Given the description of an element on the screen output the (x, y) to click on. 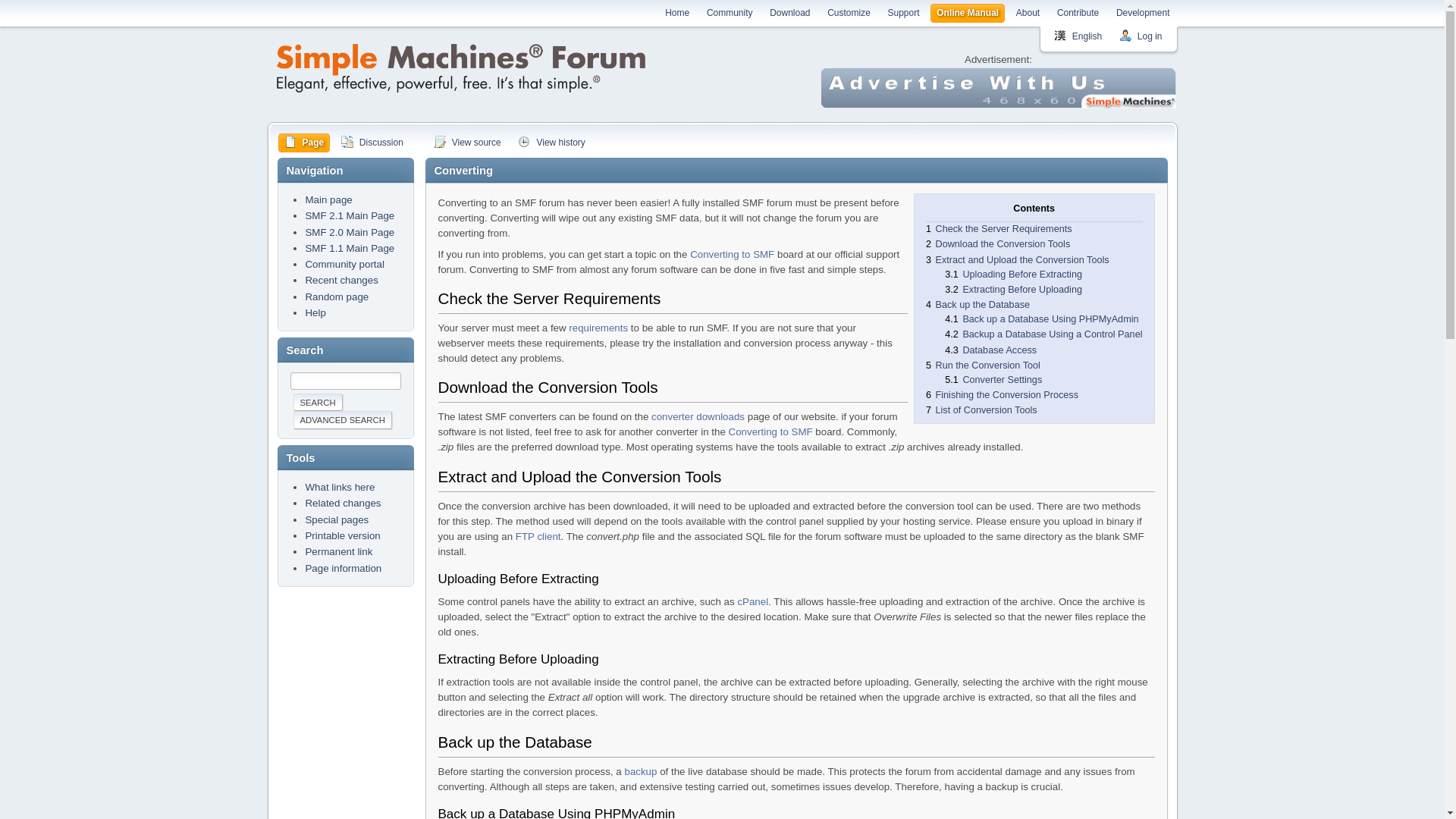
View source (467, 142)
Customize (848, 13)
ADVANCED SEARCH (341, 420)
View history (551, 142)
Online Manual (967, 12)
Development (1143, 12)
Home (677, 13)
About the project, what you can do, where to find things (344, 264)
Page (304, 142)
Help (314, 312)
